Given the description of an element on the screen output the (x, y) to click on. 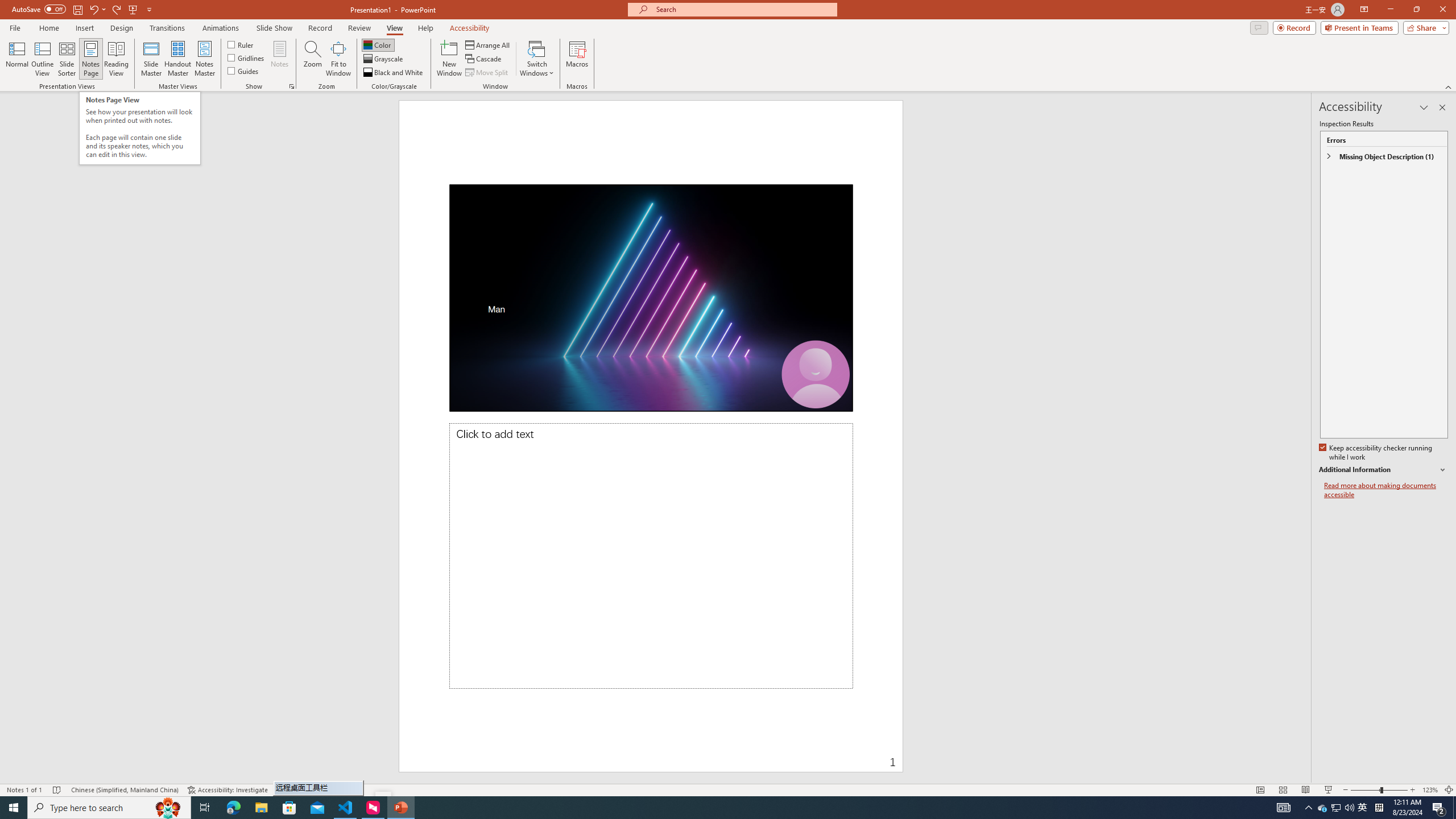
Ruler (241, 44)
Handout Master (177, 58)
Notes Master (204, 58)
Outline View (42, 58)
Black and White (393, 72)
